Given the description of an element on the screen output the (x, y) to click on. 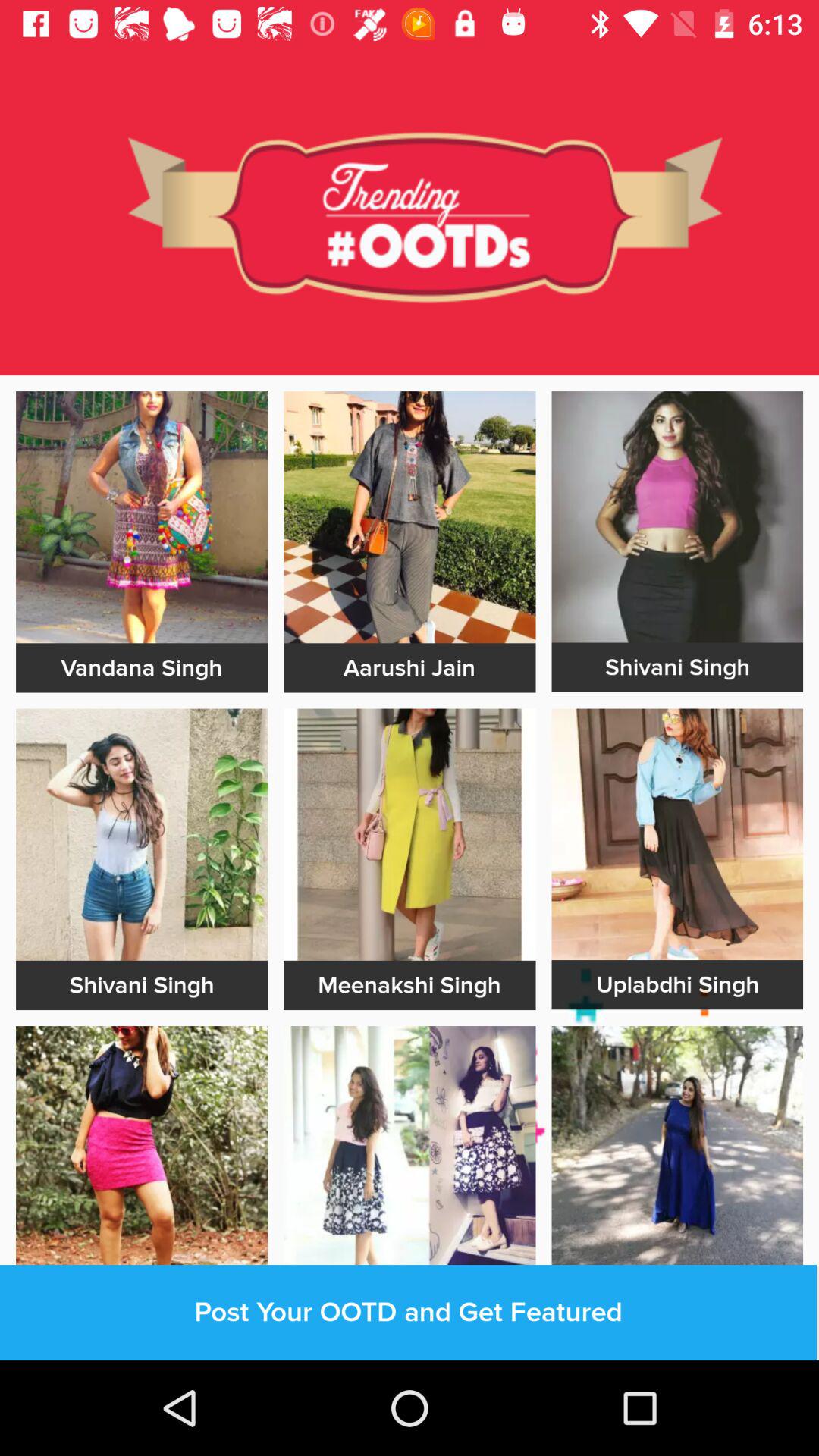
click on photo (409, 1151)
